Given the description of an element on the screen output the (x, y) to click on. 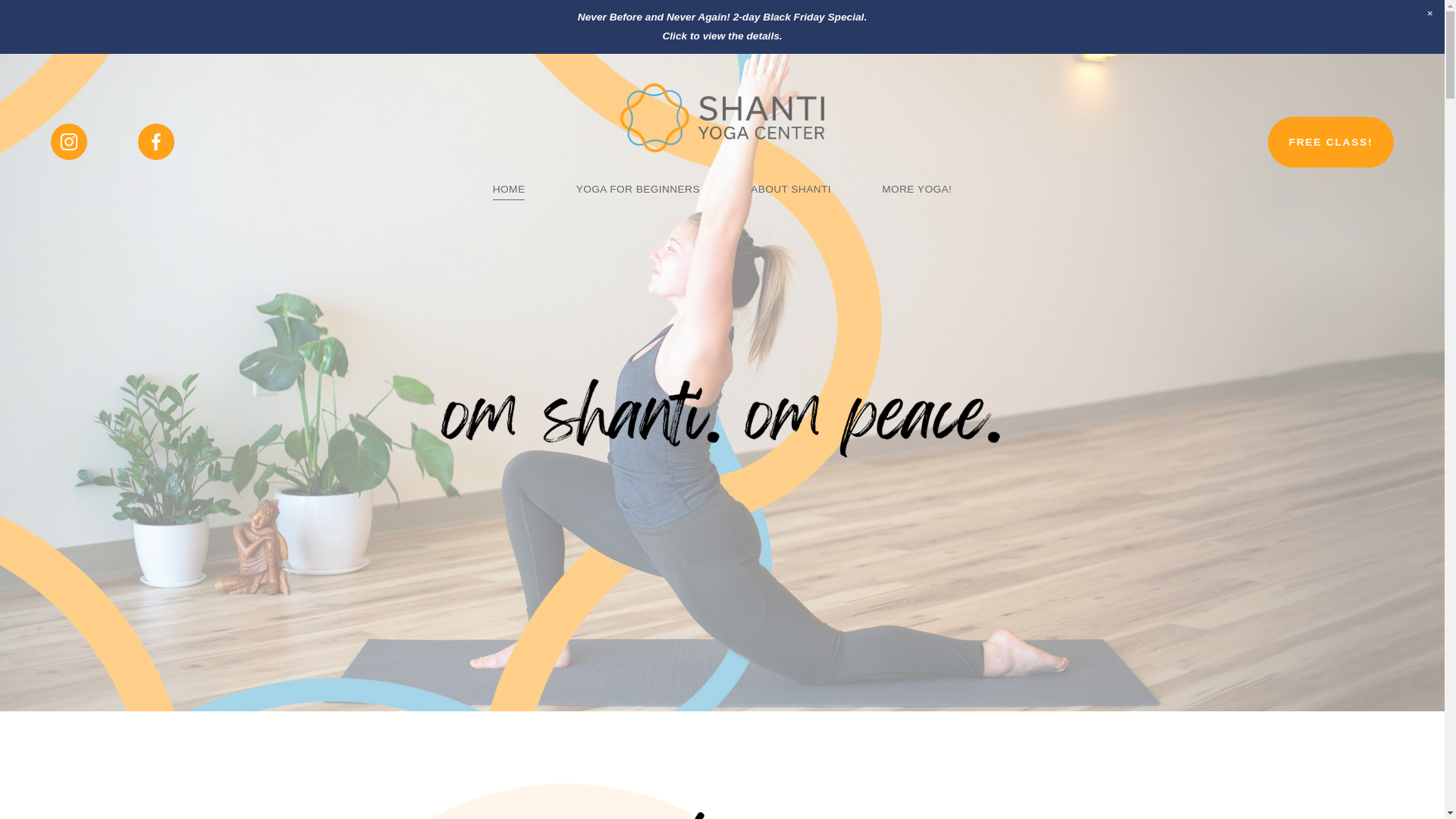
FREE CLASS! Element type: text (1330, 141)
HOME Element type: text (508, 189)
ABOUT SHANTI Element type: text (790, 189)
YOGA FOR BEGINNERS Element type: text (637, 189)
MORE YOGA! Element type: text (916, 189)
